Given the description of an element on the screen output the (x, y) to click on. 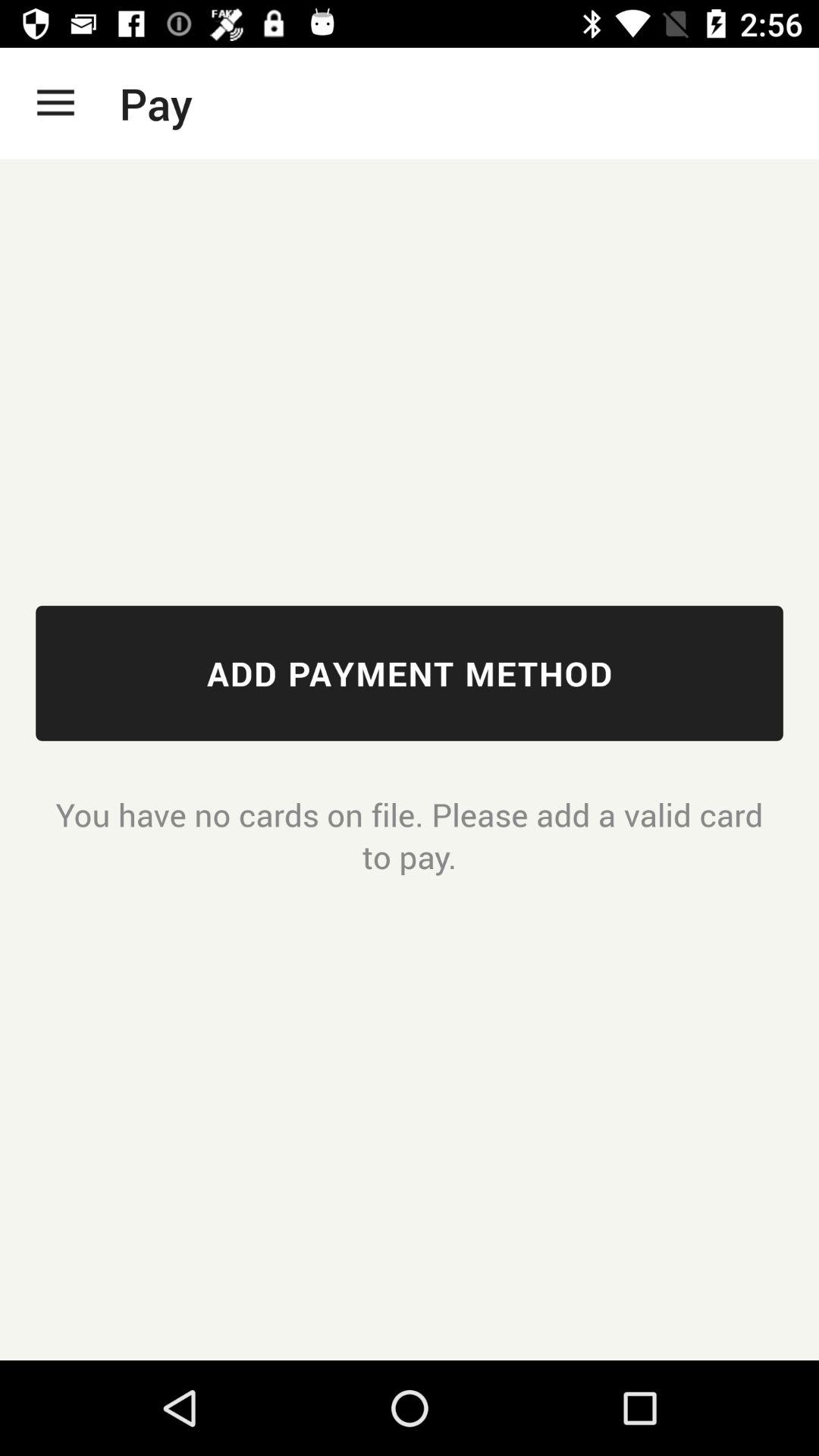
select the icon above the add payment method icon (55, 103)
